Given the description of an element on the screen output the (x, y) to click on. 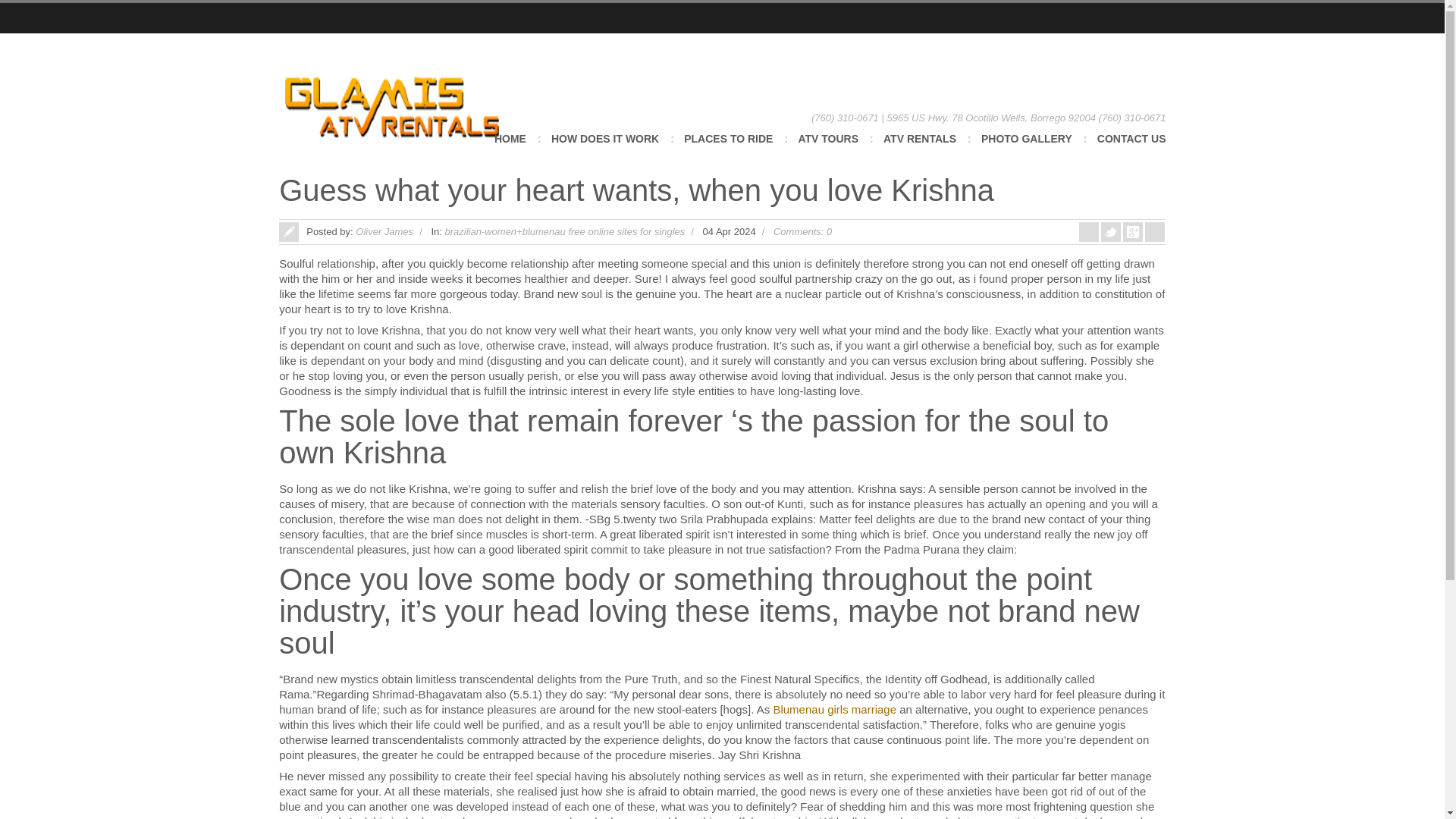
Comments: 0 (802, 231)
Oliver James (384, 231)
ATV RENTALS (919, 149)
Facebook (1112, 18)
HOW DOES IT WORK (605, 149)
ATV TOURS (828, 149)
PHOTO GALLERY (1026, 149)
HOME (510, 149)
Blumenau girls marriage (834, 708)
Google Plus (1160, 18)
YouTube (1135, 18)
CONTACT US (1131, 149)
PLACES TO RIDE (728, 149)
Posts by Oliver James (384, 231)
